Given the description of an element on the screen output the (x, y) to click on. 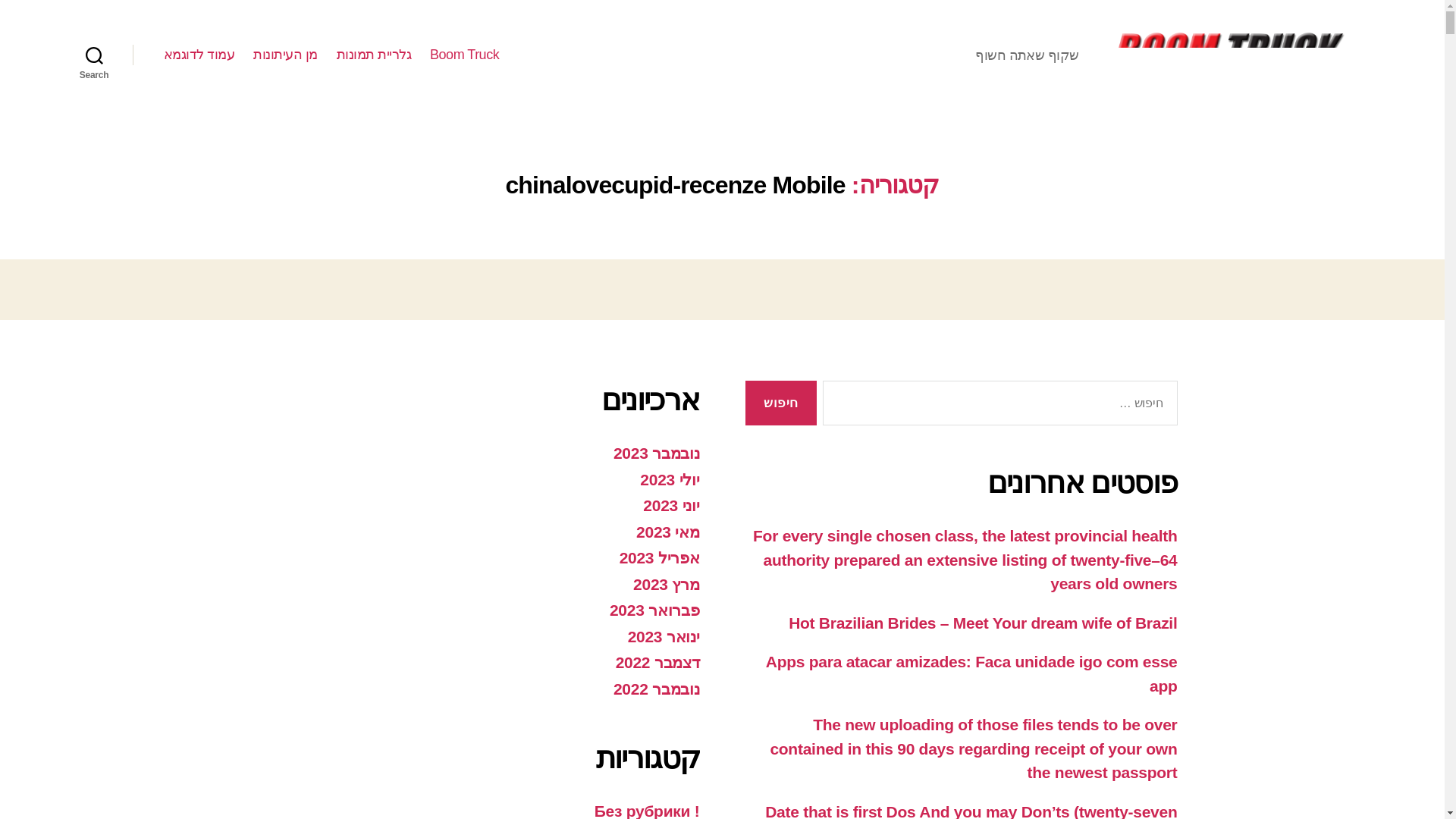
Search (93, 55)
Boom Truck (464, 54)
Apps para atacar amizades: Faca unidade igo com esse app (971, 673)
